Given the description of an element on the screen output the (x, y) to click on. 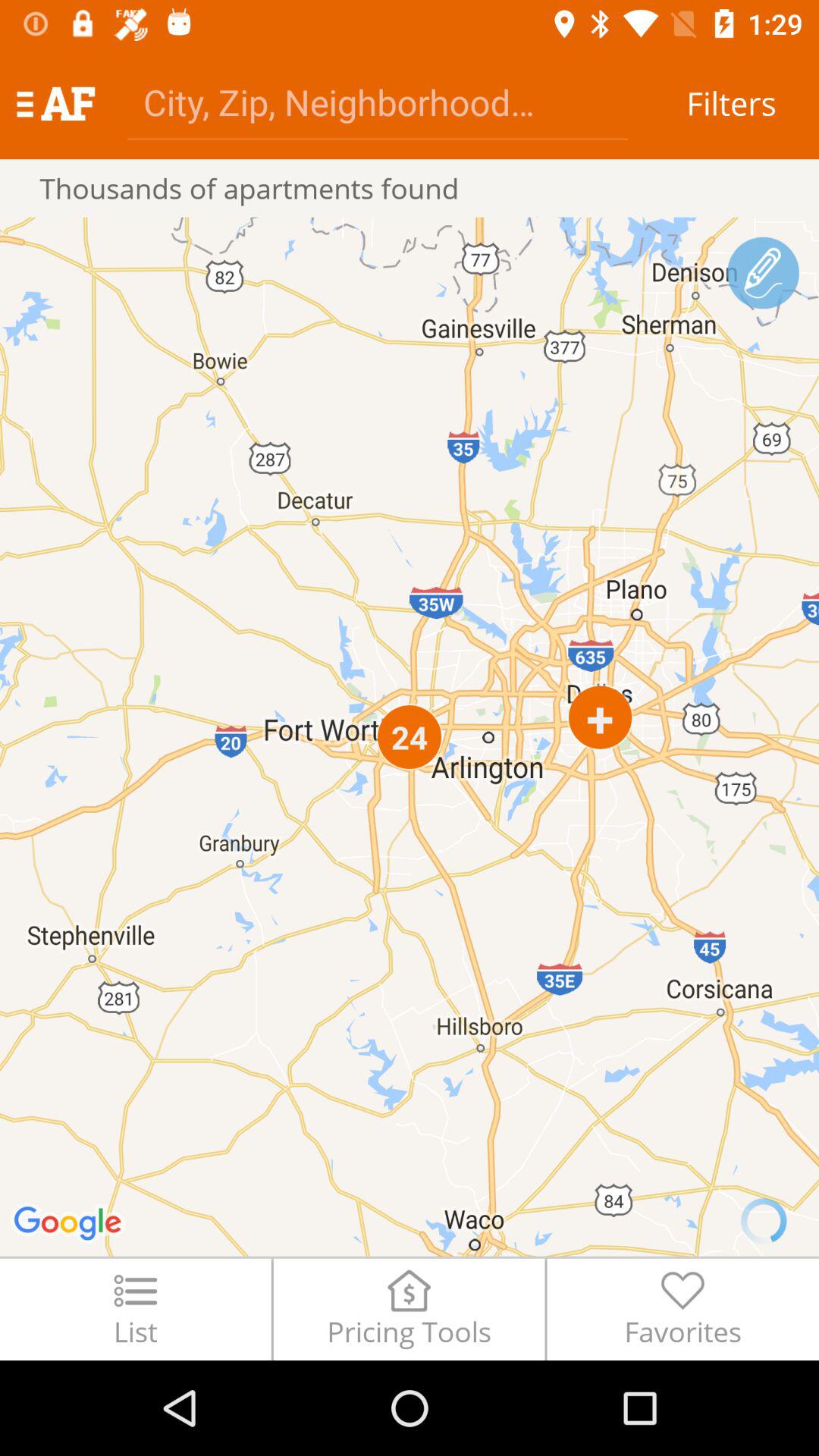
select the item next to list icon (408, 1309)
